Given the description of an element on the screen output the (x, y) to click on. 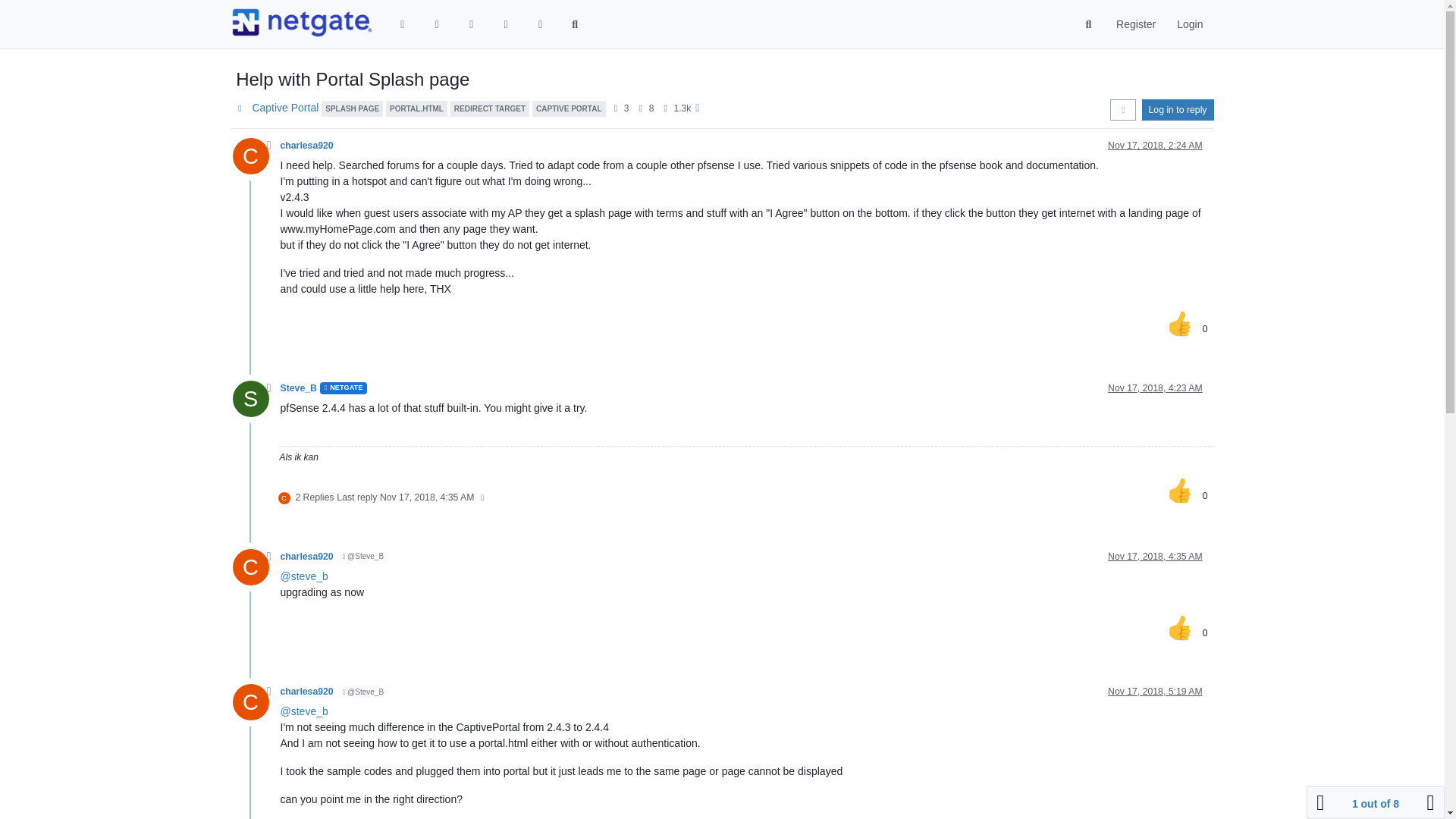
Categories (402, 24)
Login (1189, 24)
Tags (471, 24)
Captive Portal (284, 107)
Register (1135, 24)
C (255, 159)
Recent (437, 24)
Search (1088, 24)
Popular (504, 24)
SPLASH PAGE (351, 107)
